Given the description of an element on the screen output the (x, y) to click on. 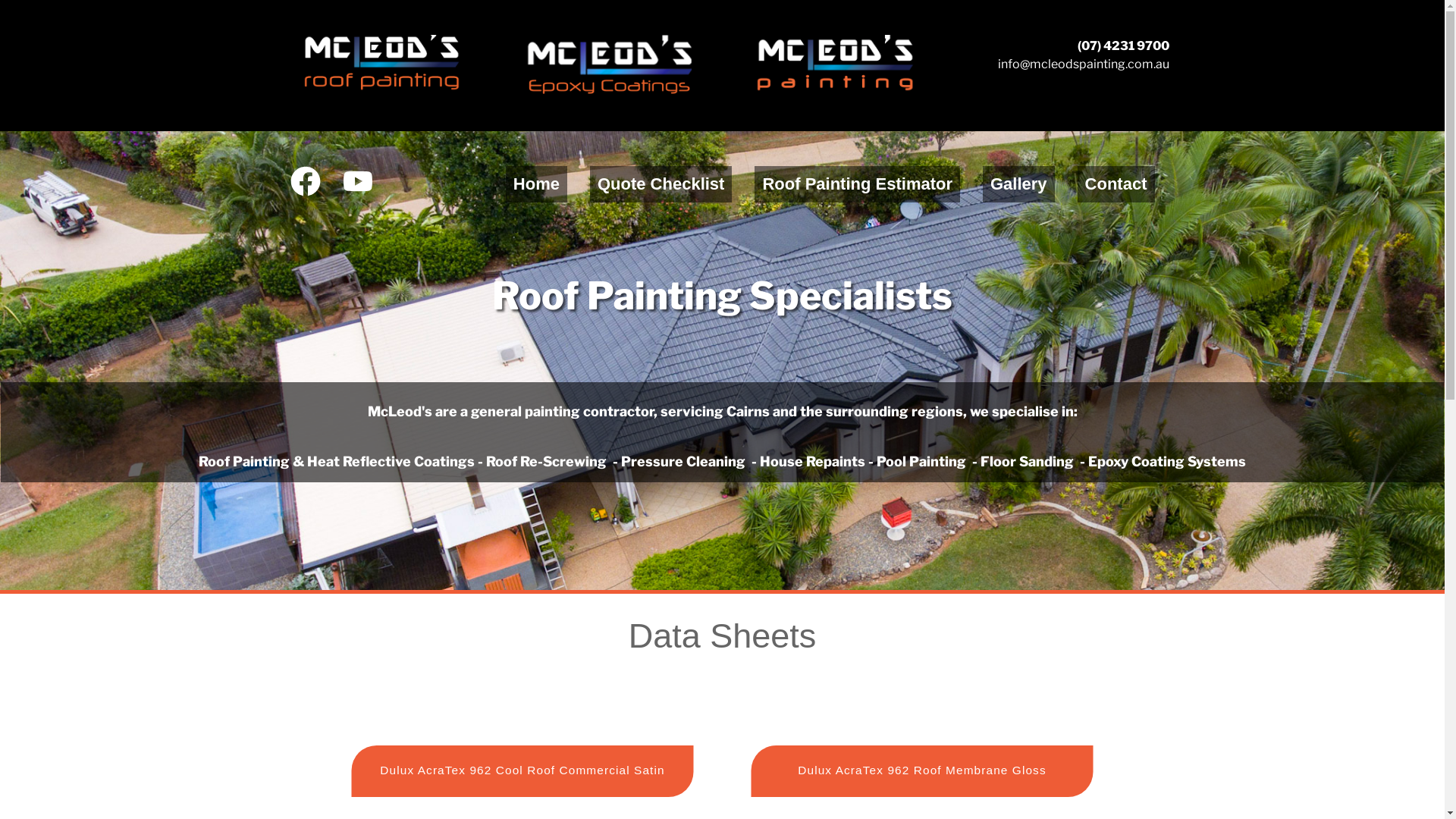
Gallery Element type: text (1018, 183)
(07) 4231 9700 Element type: text (1122, 45)
Dulux AcraTex 962 Roof Membrane Gloss Element type: text (906, 768)
Quote Checklist Element type: text (660, 183)
McLeods Painting Element type: hover (835, 63)
McLeods Roof Painting Logo Element type: hover (382, 62)
Roof Painting Estimator Element type: text (857, 183)
Home Element type: text (536, 183)
Dulux AcraTex 962 Cool Roof Commercial Satin Element type: text (506, 768)
Contact Element type: text (1116, 183)
Mcleods Epoxy Coatings logo Element type: hover (609, 65)
